Given the description of an element on the screen output the (x, y) to click on. 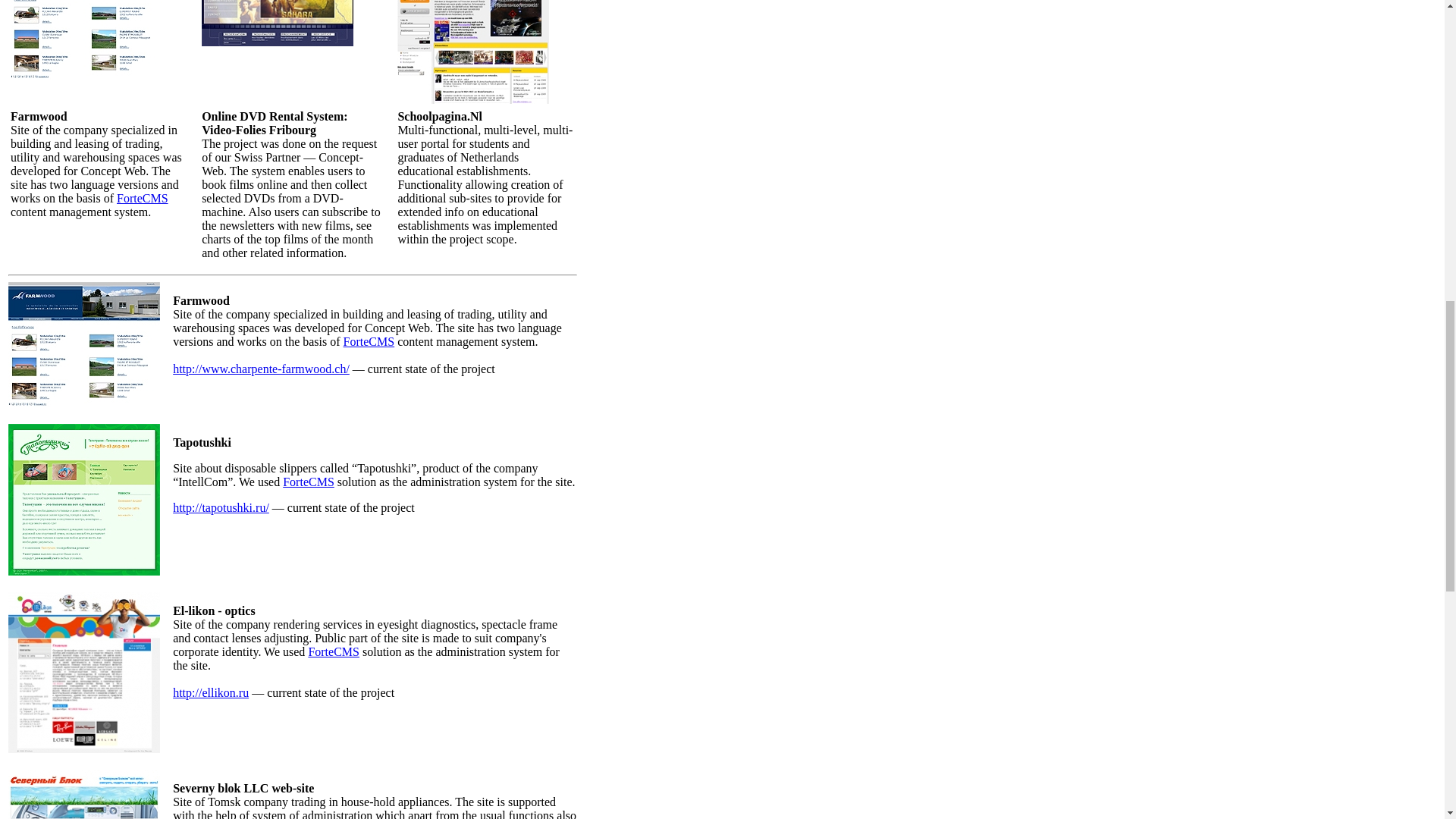
Tapotushki (84, 571)
DVD rental (277, 38)
Content Managment Tools (333, 651)
Farmwood (84, 402)
Schoolpagina (472, 99)
El-likon - optics (84, 748)
ForteCMS (368, 341)
ForteCMS (142, 197)
